Given the description of an element on the screen output the (x, y) to click on. 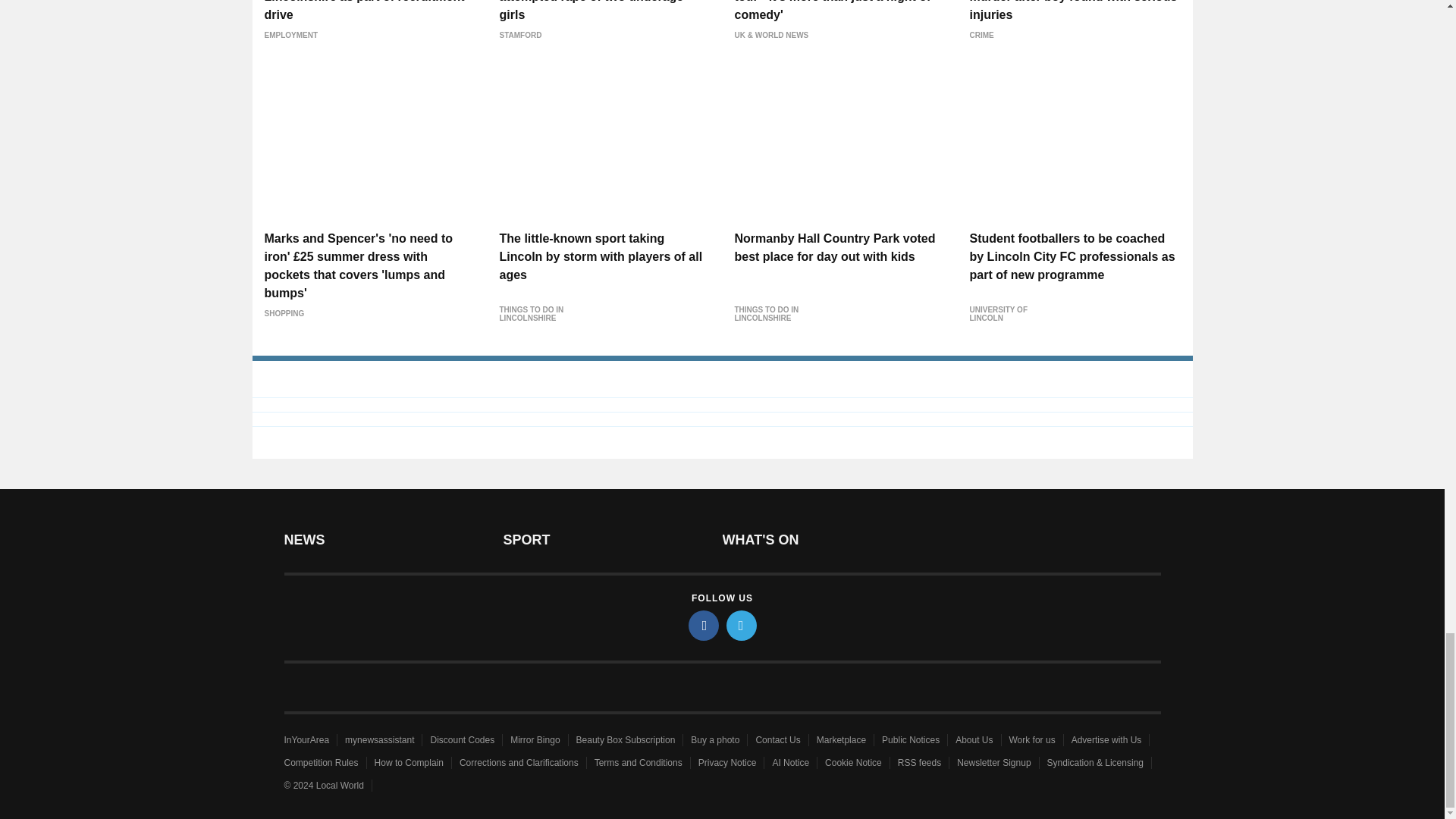
twitter (741, 625)
facebook (703, 625)
